Given the description of an element on the screen output the (x, y) to click on. 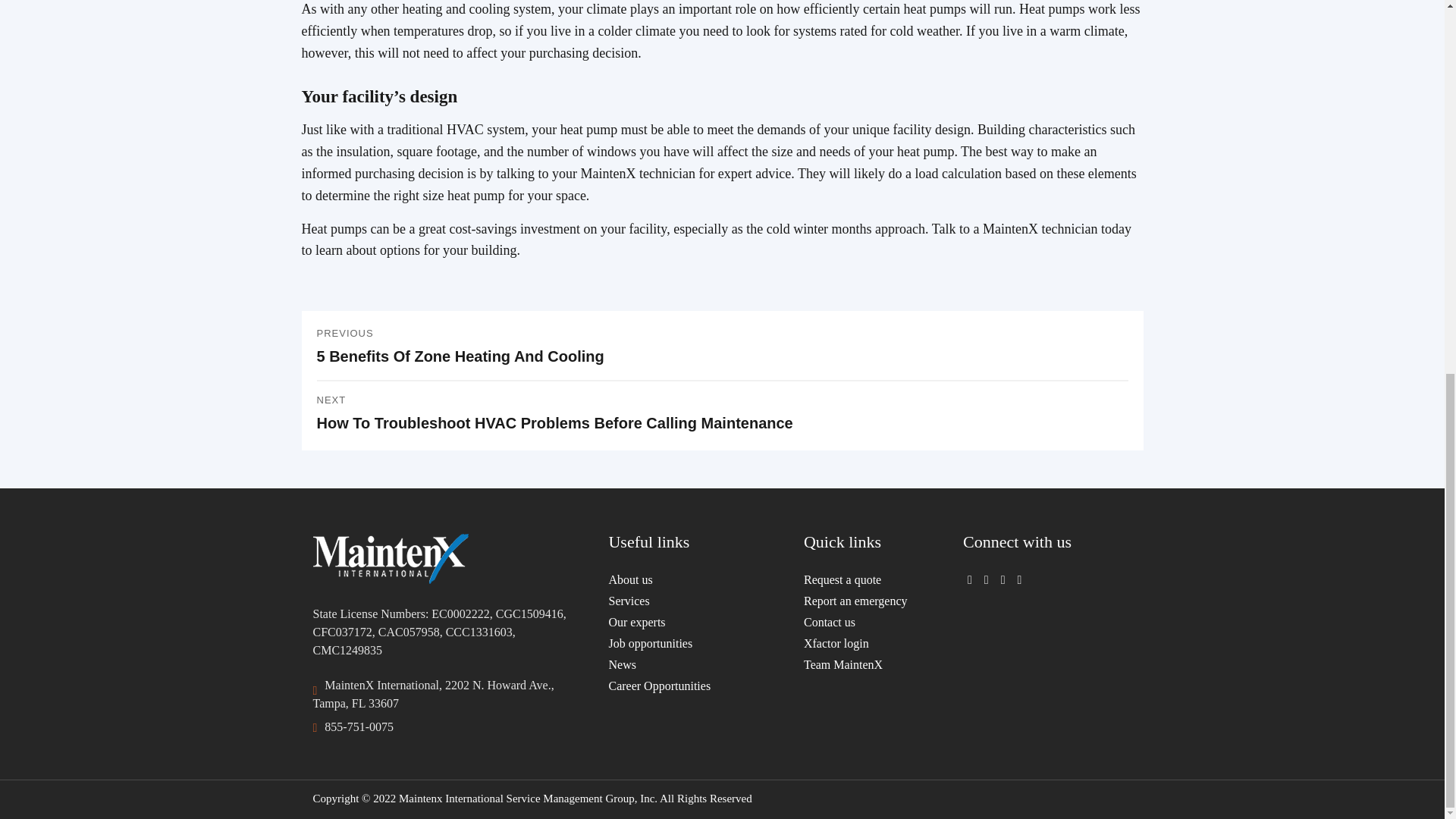
855-751-0075 (358, 726)
News (694, 664)
Our experts (694, 622)
About us (694, 579)
Report an emergency (862, 600)
Team MaintenX (862, 664)
Job opportunities (694, 643)
Career Opportunities (694, 685)
Contact us (862, 622)
